Given the description of an element on the screen output the (x, y) to click on. 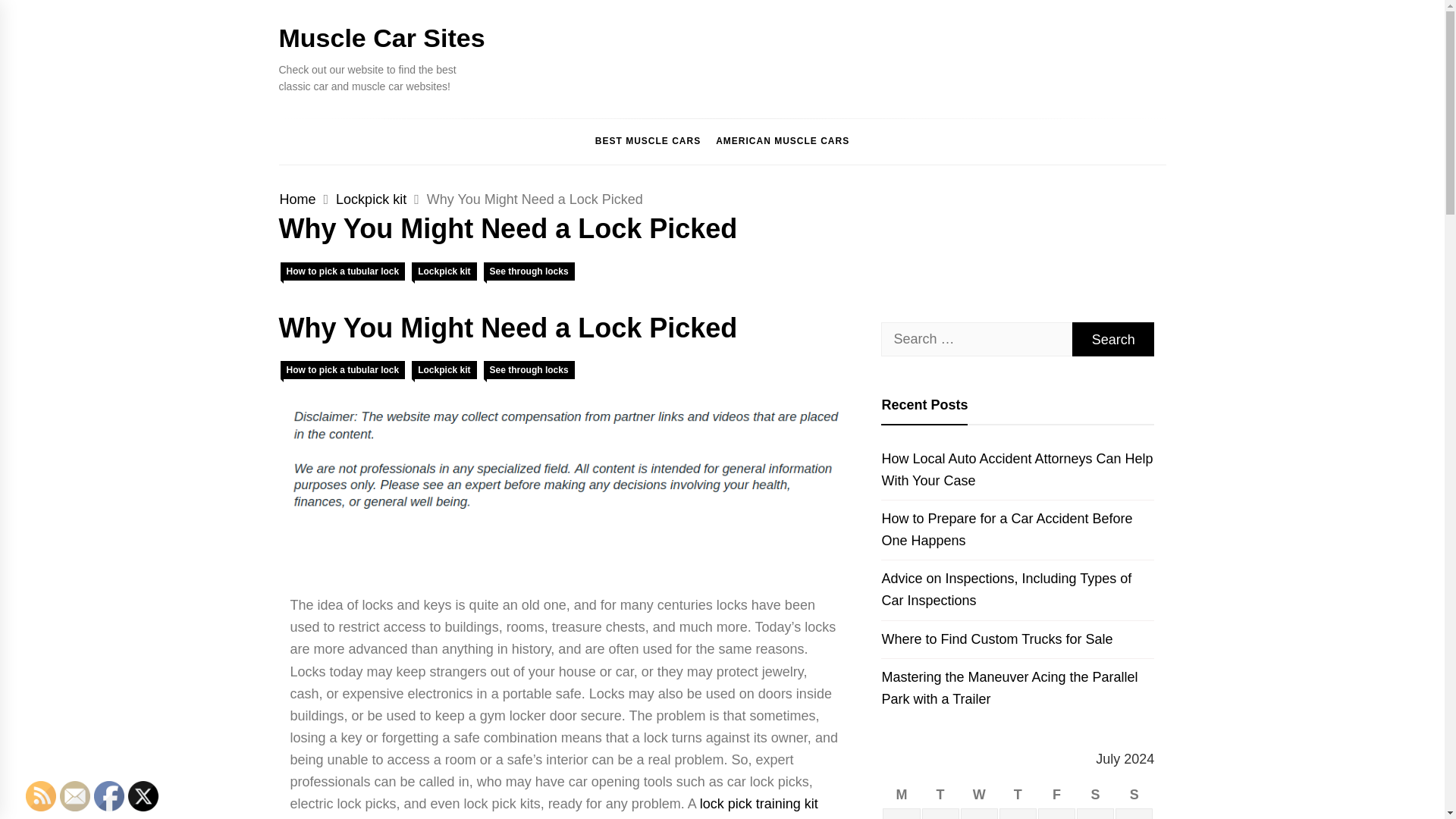
Search (1112, 339)
Lockpick kit (444, 271)
Thursday (1017, 794)
Search (1112, 339)
lock pick training kit (759, 803)
Facebook (108, 796)
Lockpick kit (444, 370)
Follow by Email (74, 796)
Monday (901, 794)
RSS (41, 796)
See through locks (529, 271)
Twitter (143, 796)
See through locks (529, 370)
How to Prepare for a Car Accident Before One Happens (1017, 529)
Search (1112, 339)
